Given the description of an element on the screen output the (x, y) to click on. 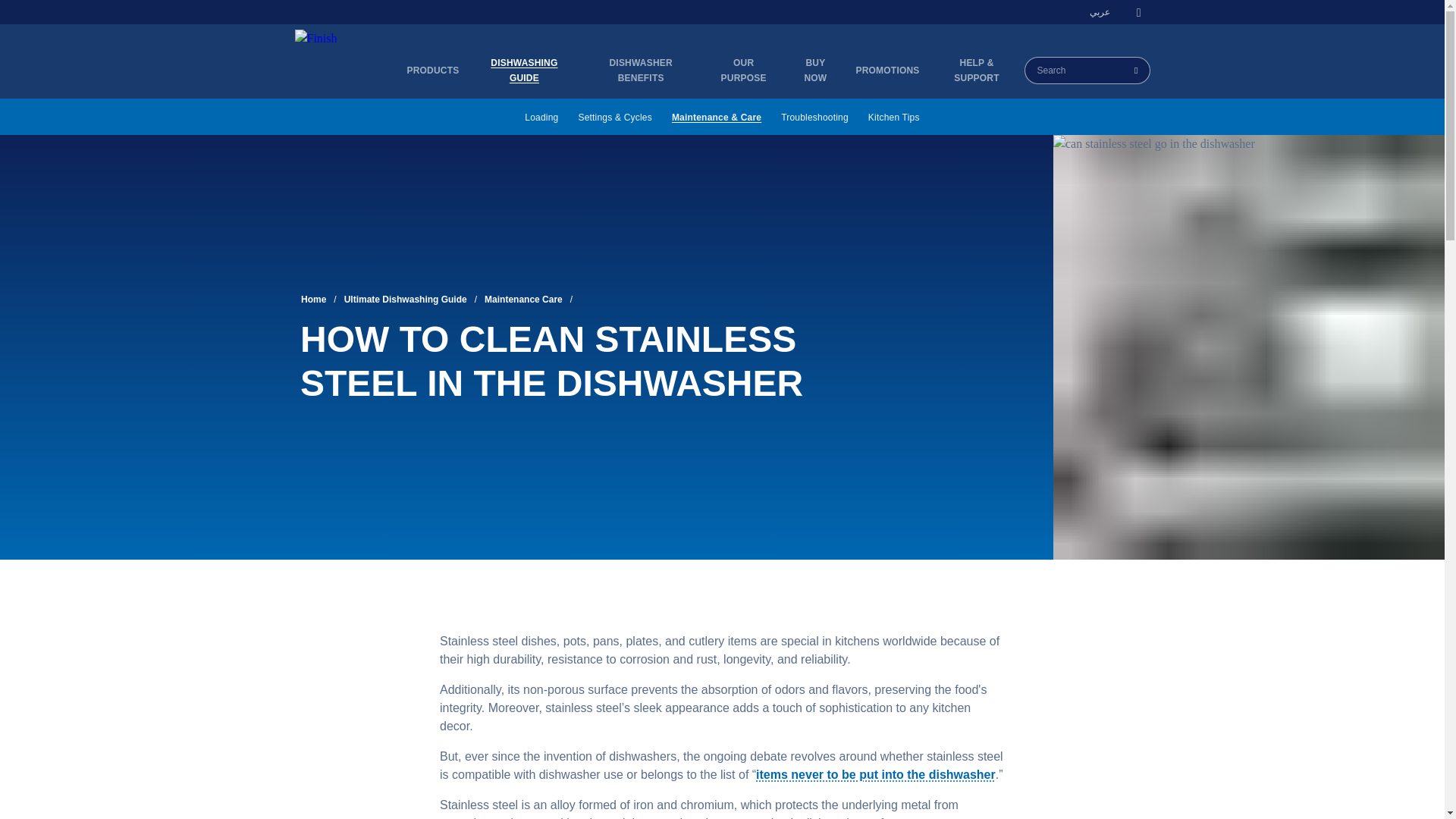
BUY NOW (814, 70)
items never to be put into the dishwasher (875, 774)
Kitchen Tips (893, 117)
Troubleshooting (814, 117)
Switch to Arabic language (1099, 12)
DISHWASHING GUIDE (523, 70)
PRODUCTS (433, 70)
OUR PURPOSE (743, 70)
DISHWASHER BENEFITS (640, 70)
PROMOTIONS (888, 70)
